Given the description of an element on the screen output the (x, y) to click on. 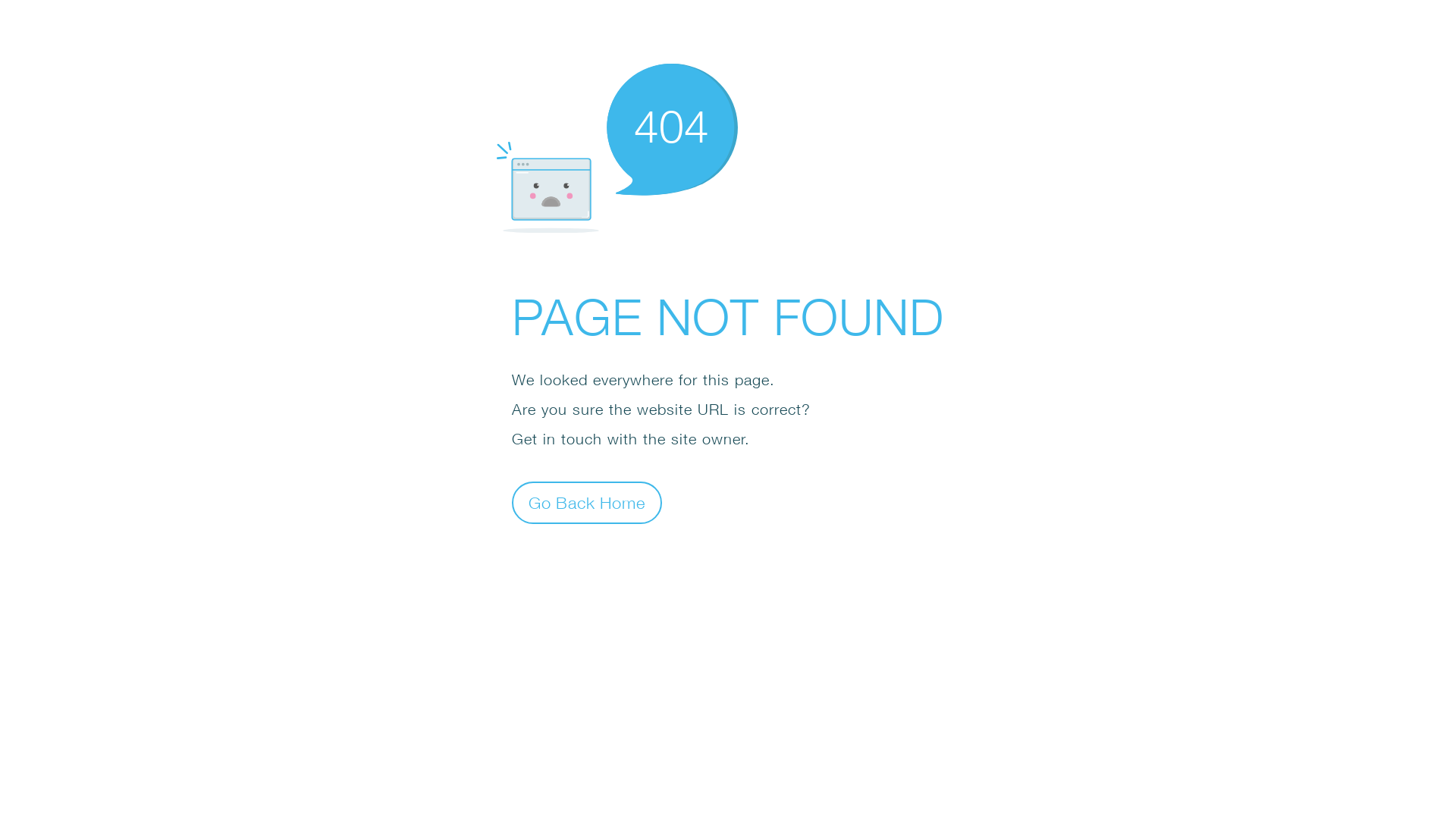
Go Back Home Element type: text (586, 502)
